Given the description of an element on the screen output the (x, y) to click on. 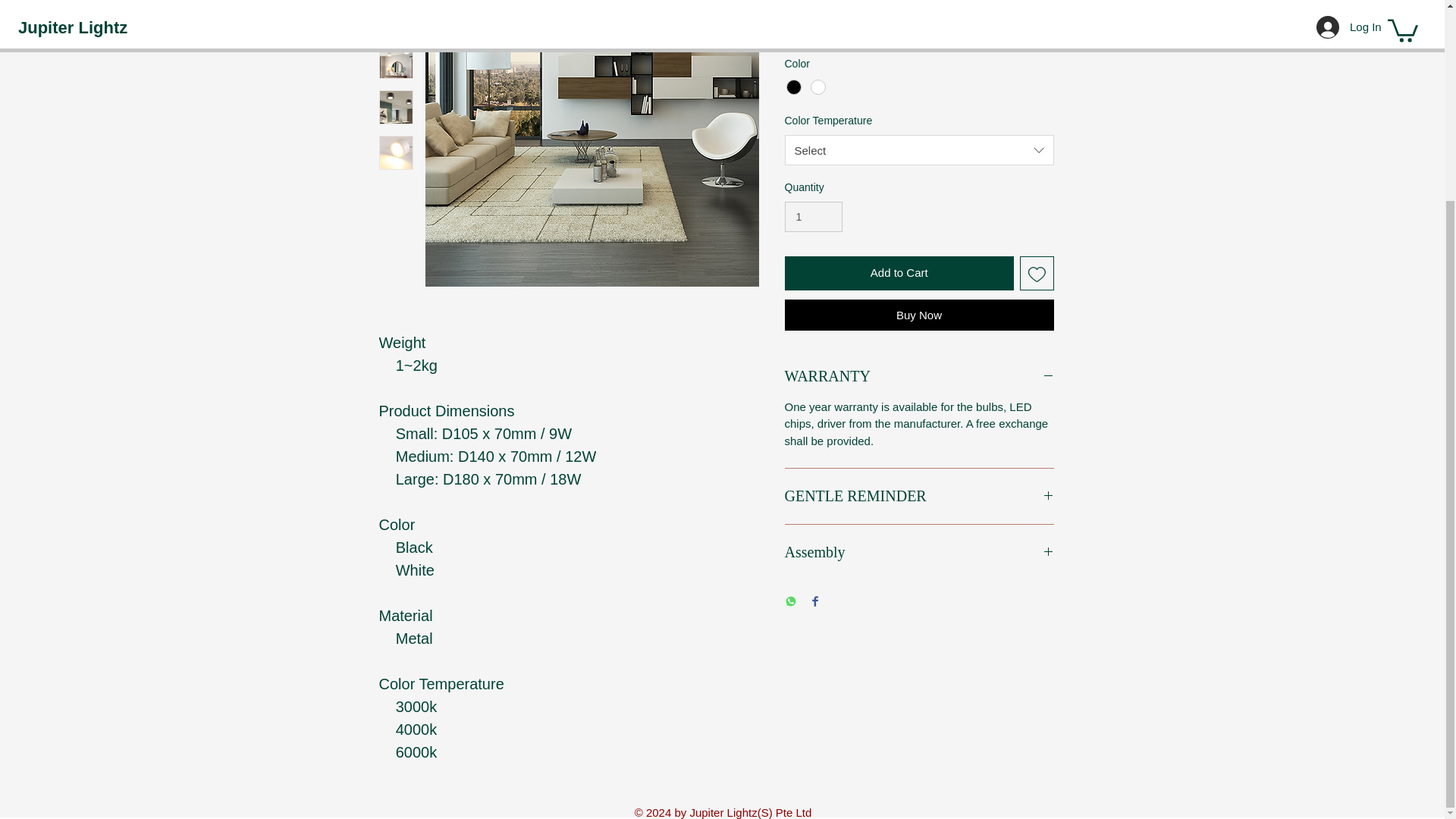
Select (918, 150)
GENTLE REMINDER (918, 496)
Add to Cart (898, 273)
Select (918, 26)
Buy Now (918, 314)
Assembly (918, 551)
1 (812, 216)
WARRANTY (918, 375)
